Given the description of an element on the screen output the (x, y) to click on. 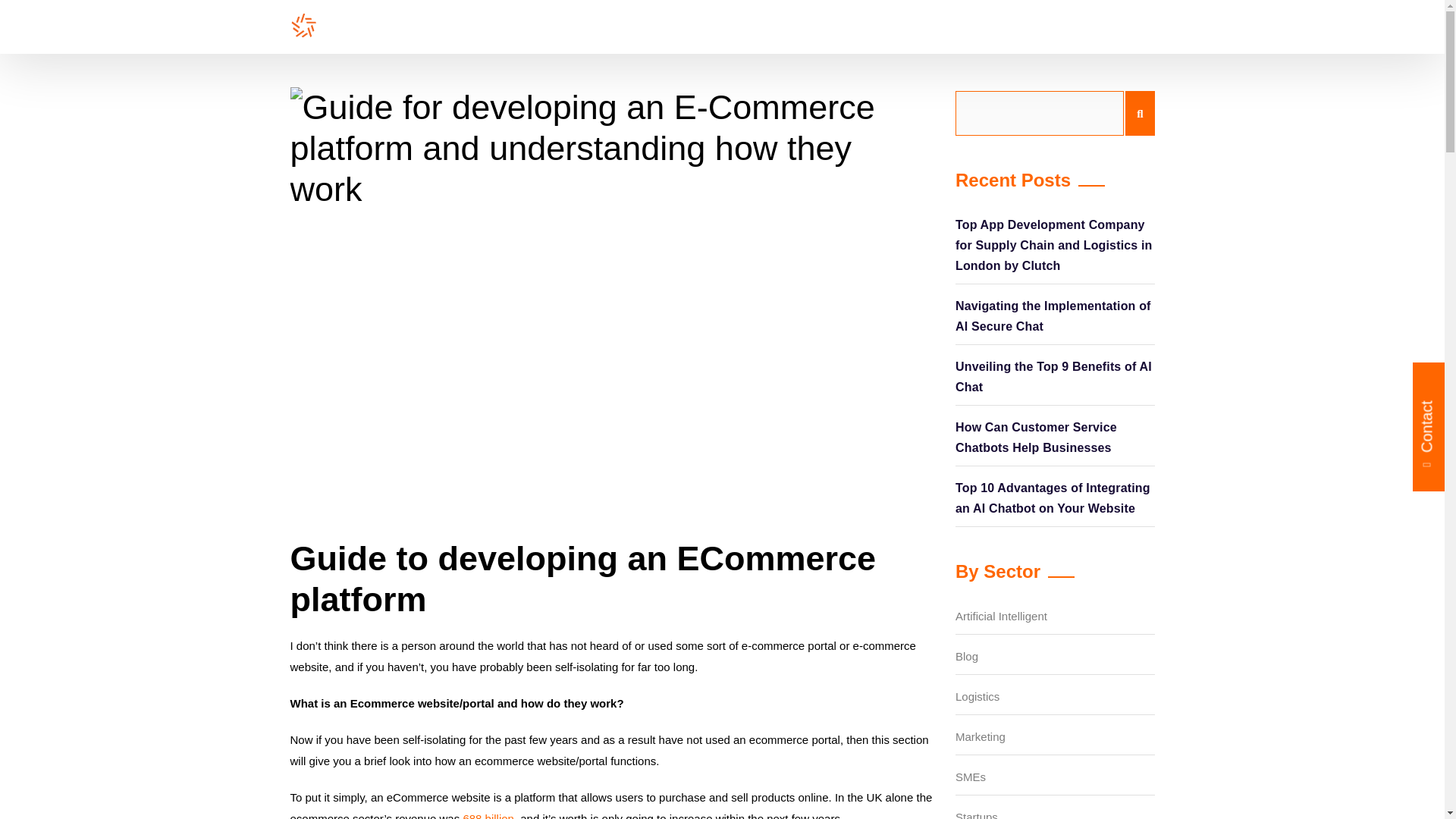
Home (583, 26)
Digital Studio (849, 26)
AI Studio (750, 26)
Advisory (664, 26)
